Given the description of an element on the screen output the (x, y) to click on. 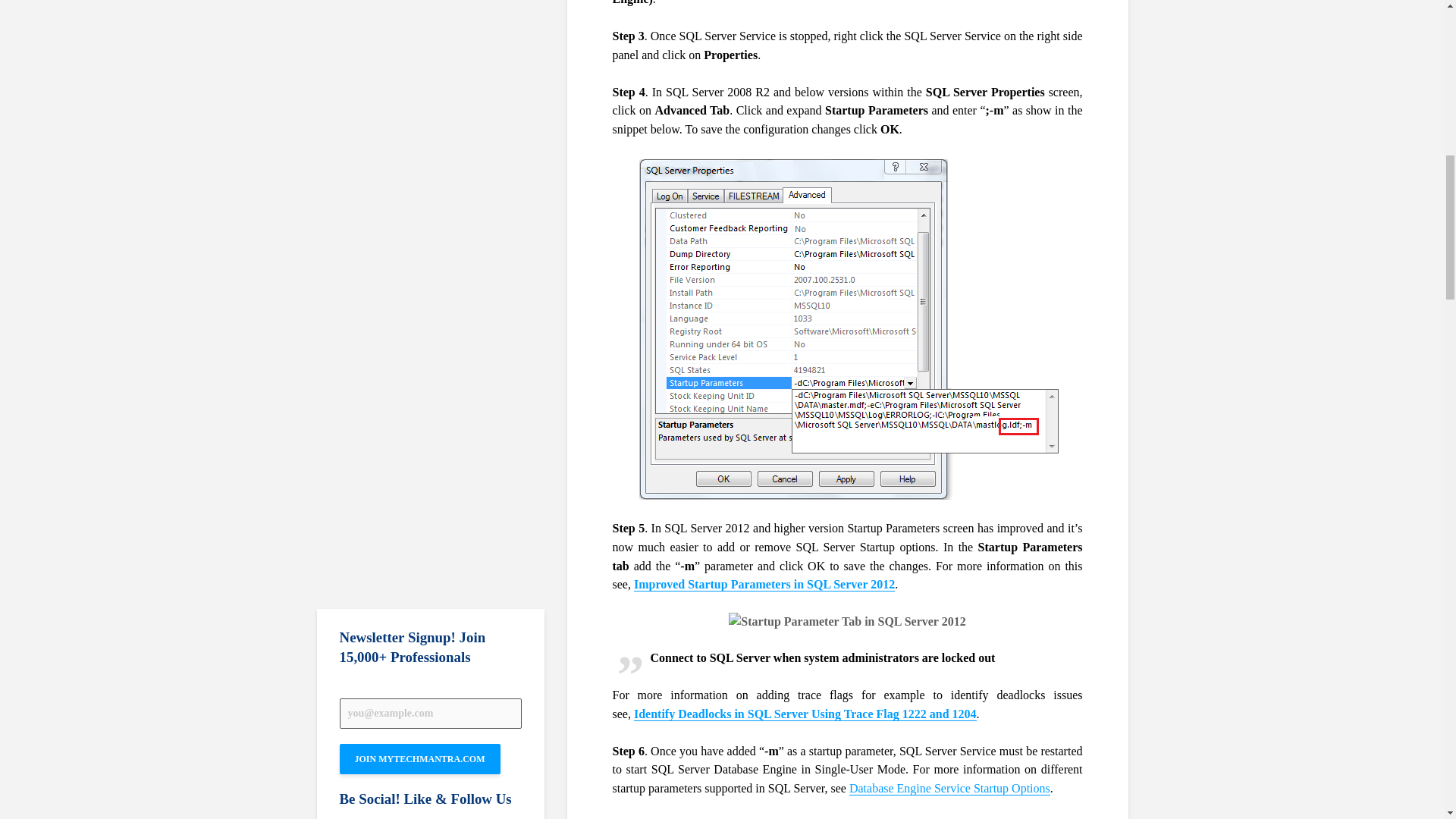
Join MyTechMantra.com (419, 758)
